Given the description of an element on the screen output the (x, y) to click on. 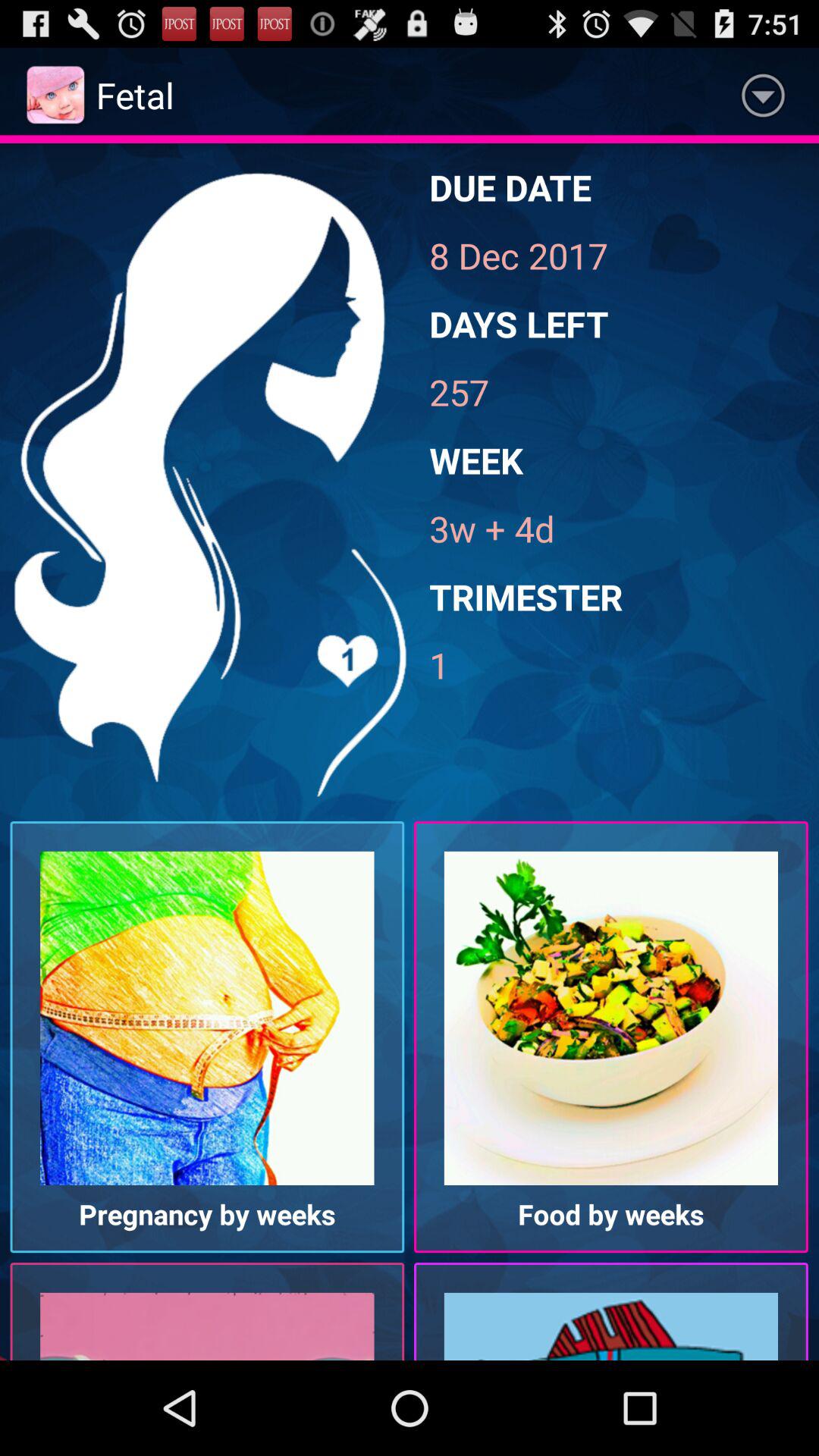
open icon to the right of fetal (763, 95)
